Given the description of an element on the screen output the (x, y) to click on. 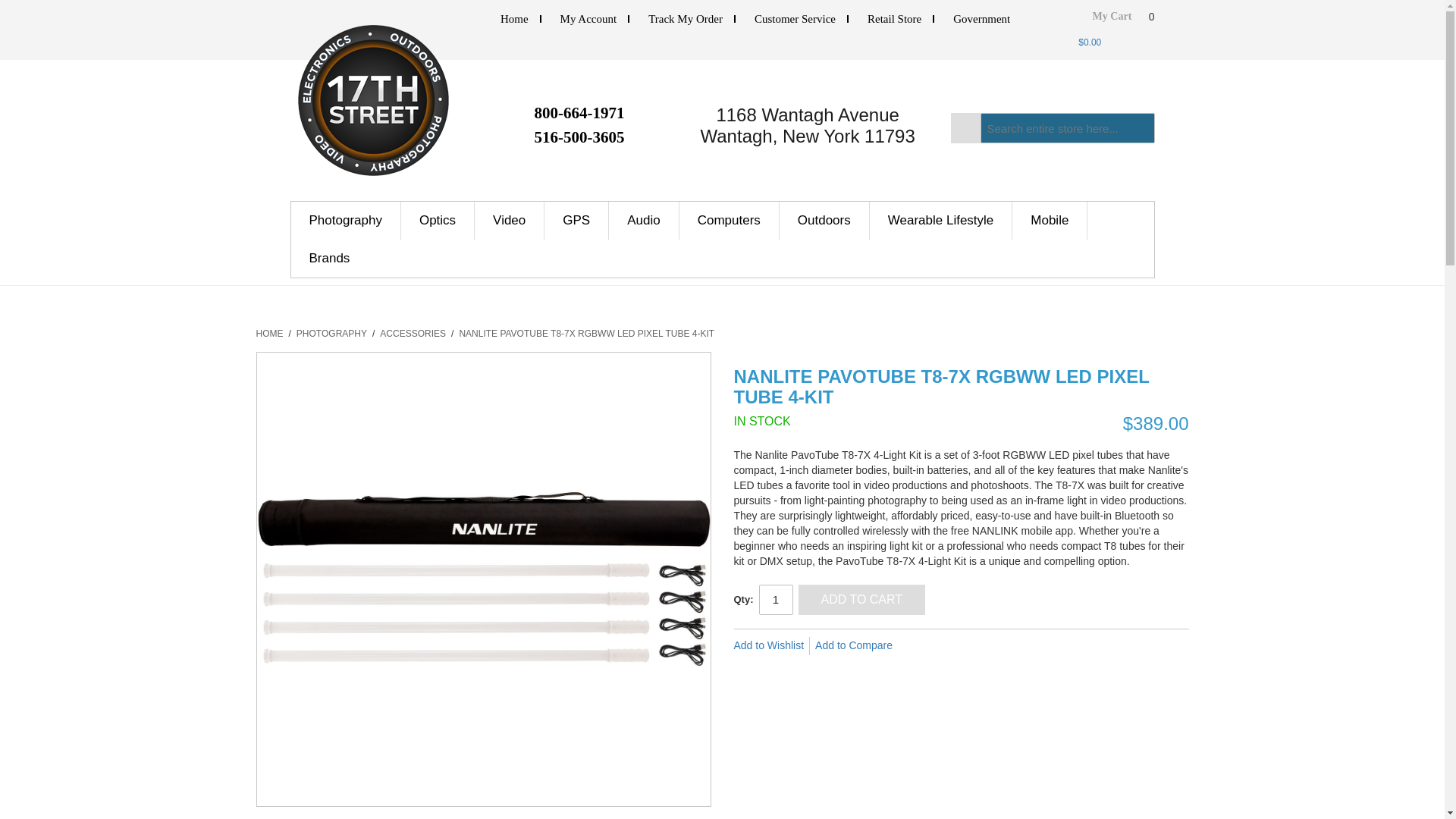
Home (514, 19)
Retail Store (894, 19)
Video (509, 220)
GPS (576, 220)
My Account (588, 19)
Qty (775, 599)
Track My Order (684, 19)
Optics (437, 220)
Search (965, 128)
